Given the description of an element on the screen output the (x, y) to click on. 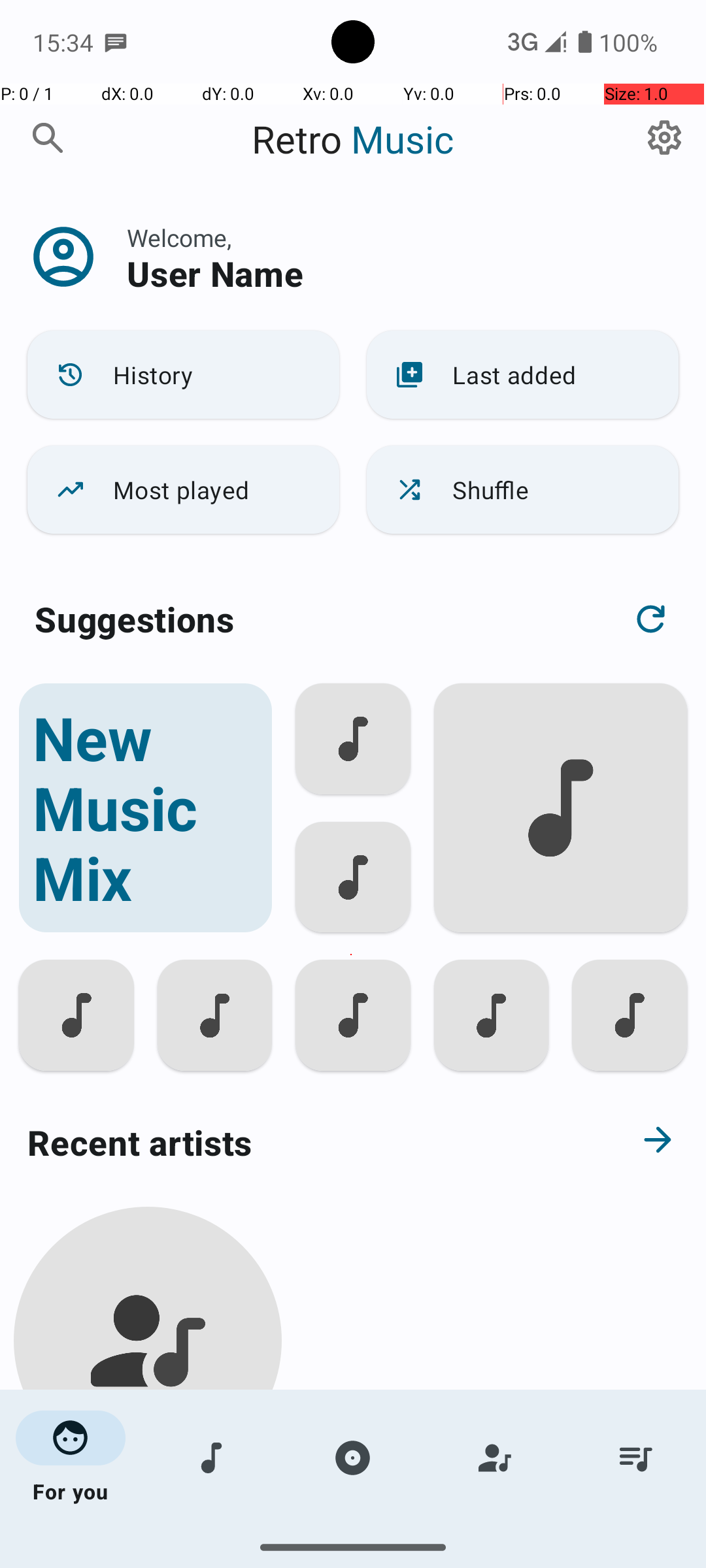
Leon Element type: android.widget.TextView (147, 1503)
